Given the description of an element on the screen output the (x, y) to click on. 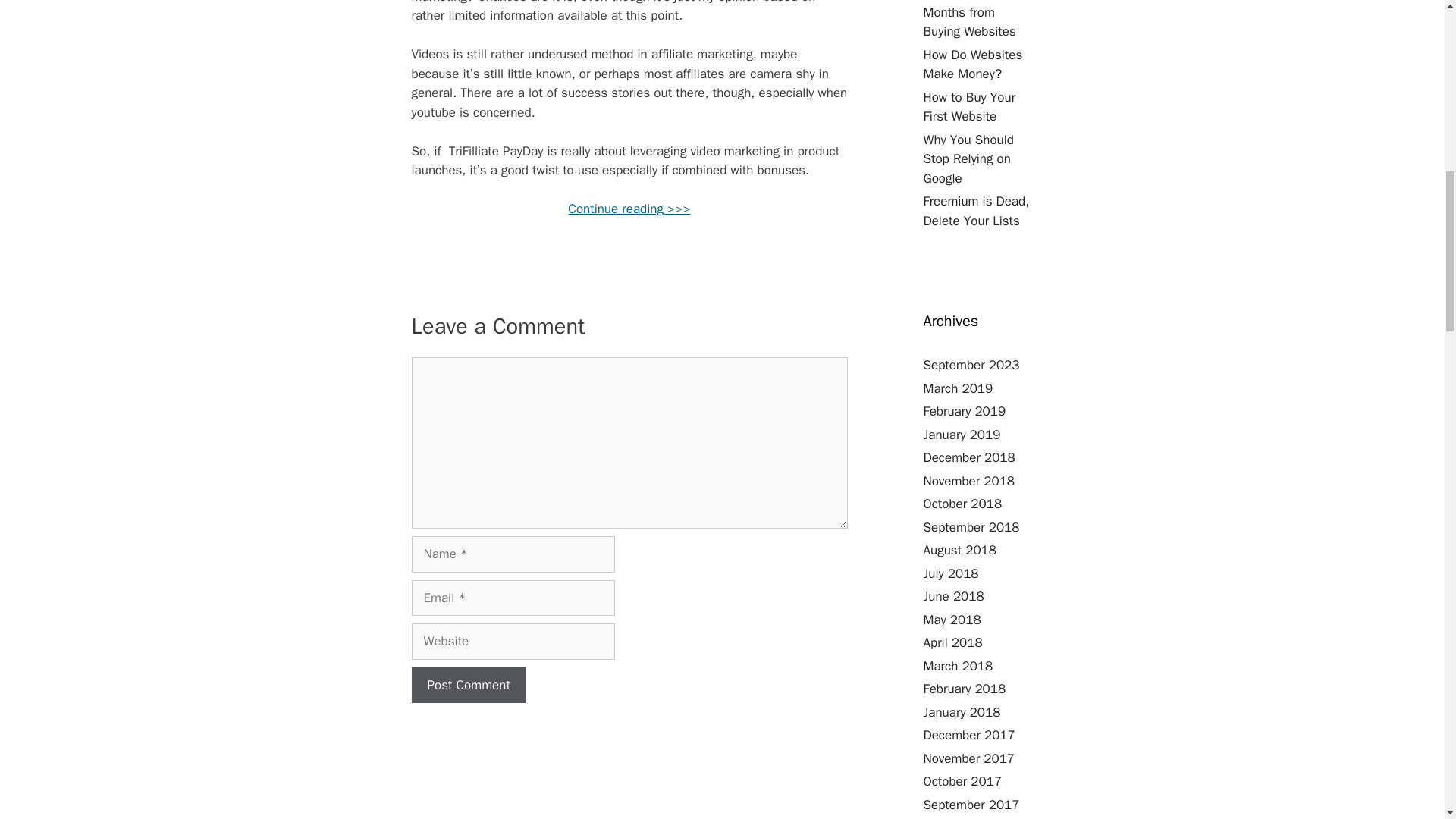
How Do Websites Make Money? (973, 64)
September 2023 (971, 365)
How to Buy Your First Website (969, 107)
September 2018 (971, 526)
August 2018 (959, 549)
December 2018 (968, 457)
March 2019 (957, 388)
November 2018 (968, 480)
February 2019 (964, 411)
Post Comment (467, 685)
